Given the description of an element on the screen output the (x, y) to click on. 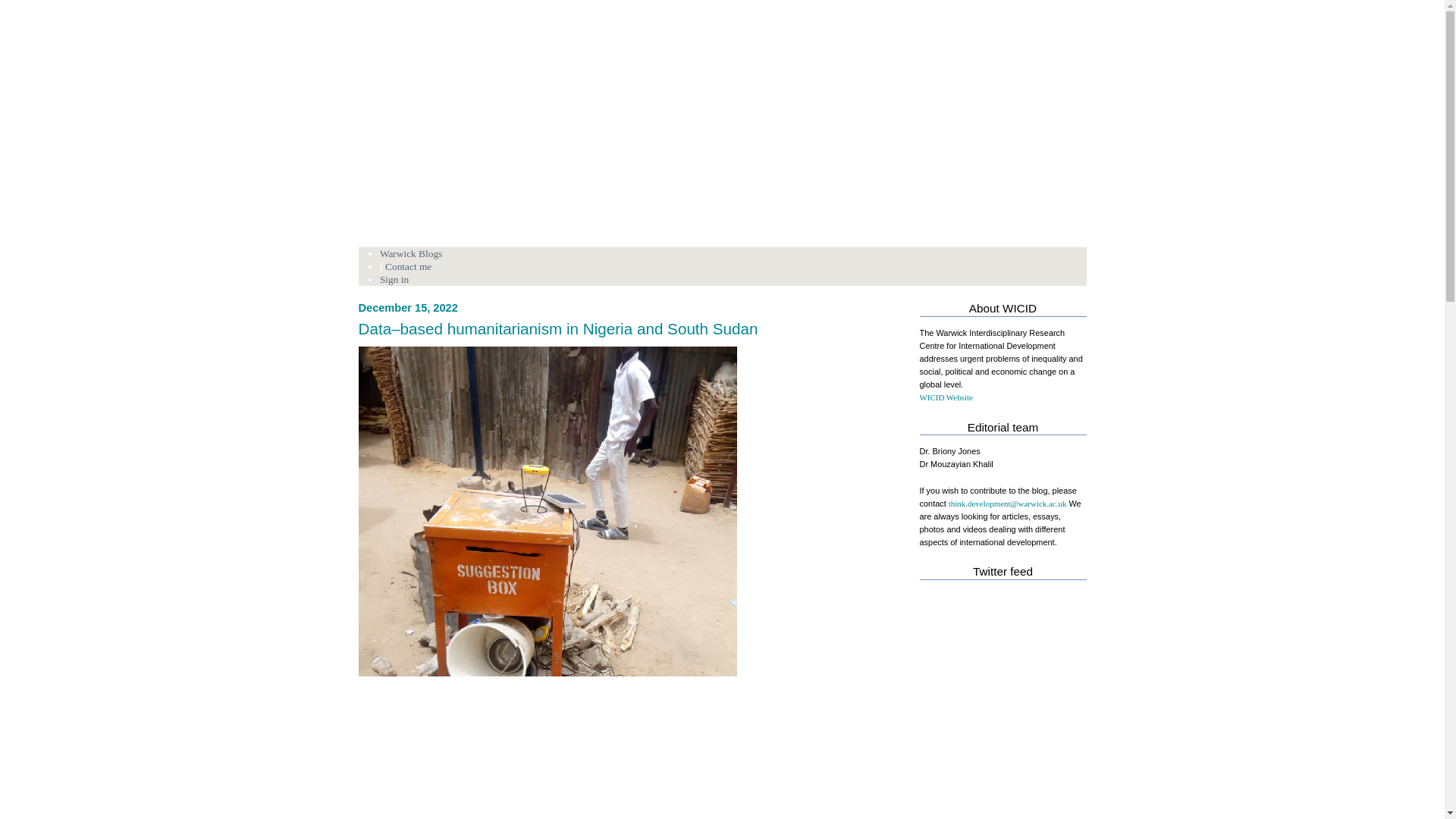
Sign in (394, 279)
Contact me (407, 266)
WICID Website (945, 397)
Warwick Blogs (411, 253)
